Given the description of an element on the screen output the (x, y) to click on. 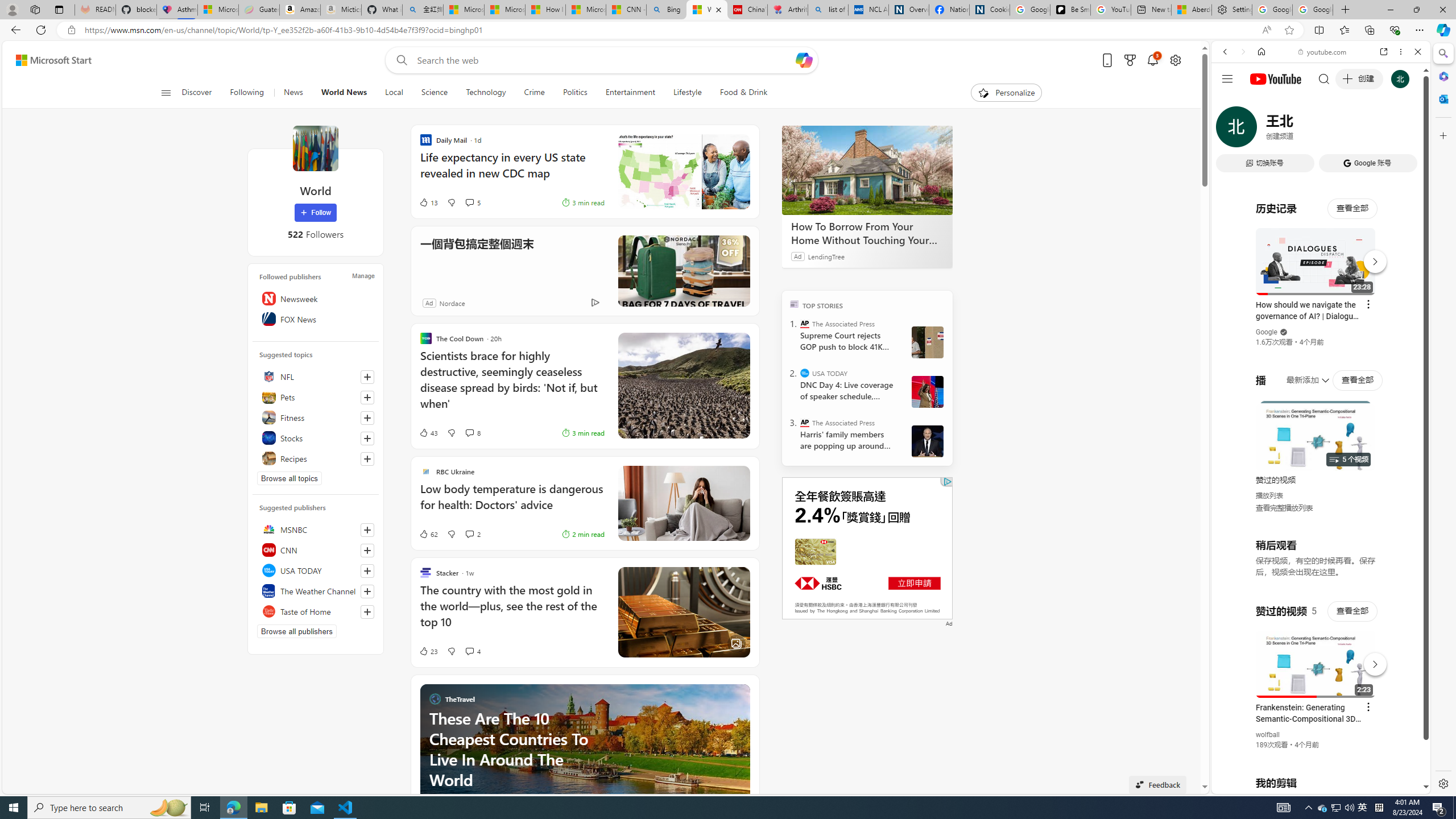
Follow (315, 212)
FOX News (315, 318)
How I Got Rid of Microsoft Edge's Unnecessary Features (544, 9)
Arthritis: Ask Health Professionals (787, 9)
World (314, 148)
MSNBC (315, 529)
list of asthma inhalers uk - Search (828, 9)
Show More Music (1390, 310)
